Given the description of an element on the screen output the (x, y) to click on. 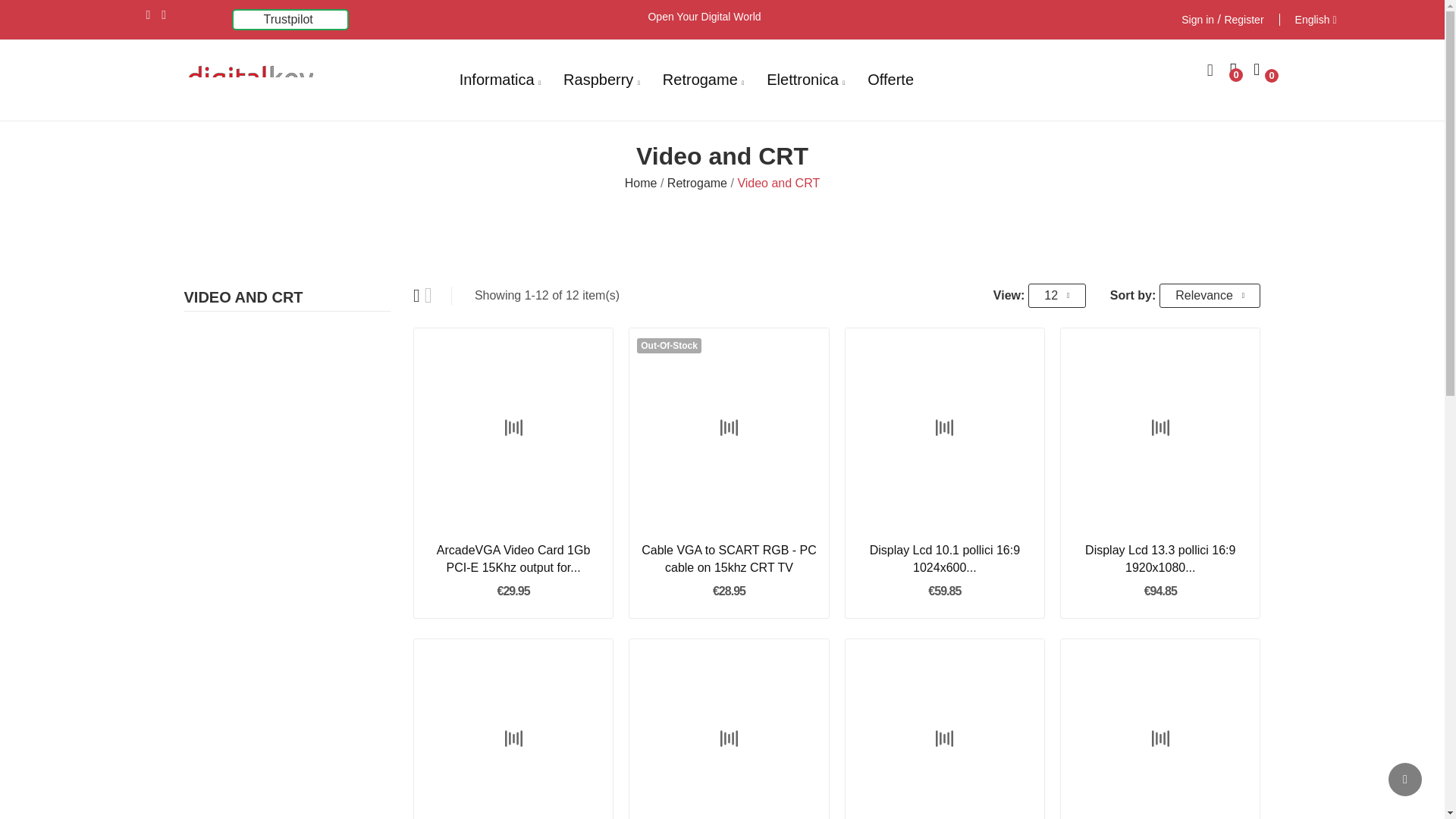
Sign in (1197, 19)
Cable VGA to SCART RGB - PC cable on 15khz CRT TV (728, 559)
Raspberry (601, 79)
Trustpilot (288, 19)
Informatica (500, 79)
Register (1243, 19)
Retrogame (703, 79)
12 (1055, 295)
